Given the description of an element on the screen output the (x, y) to click on. 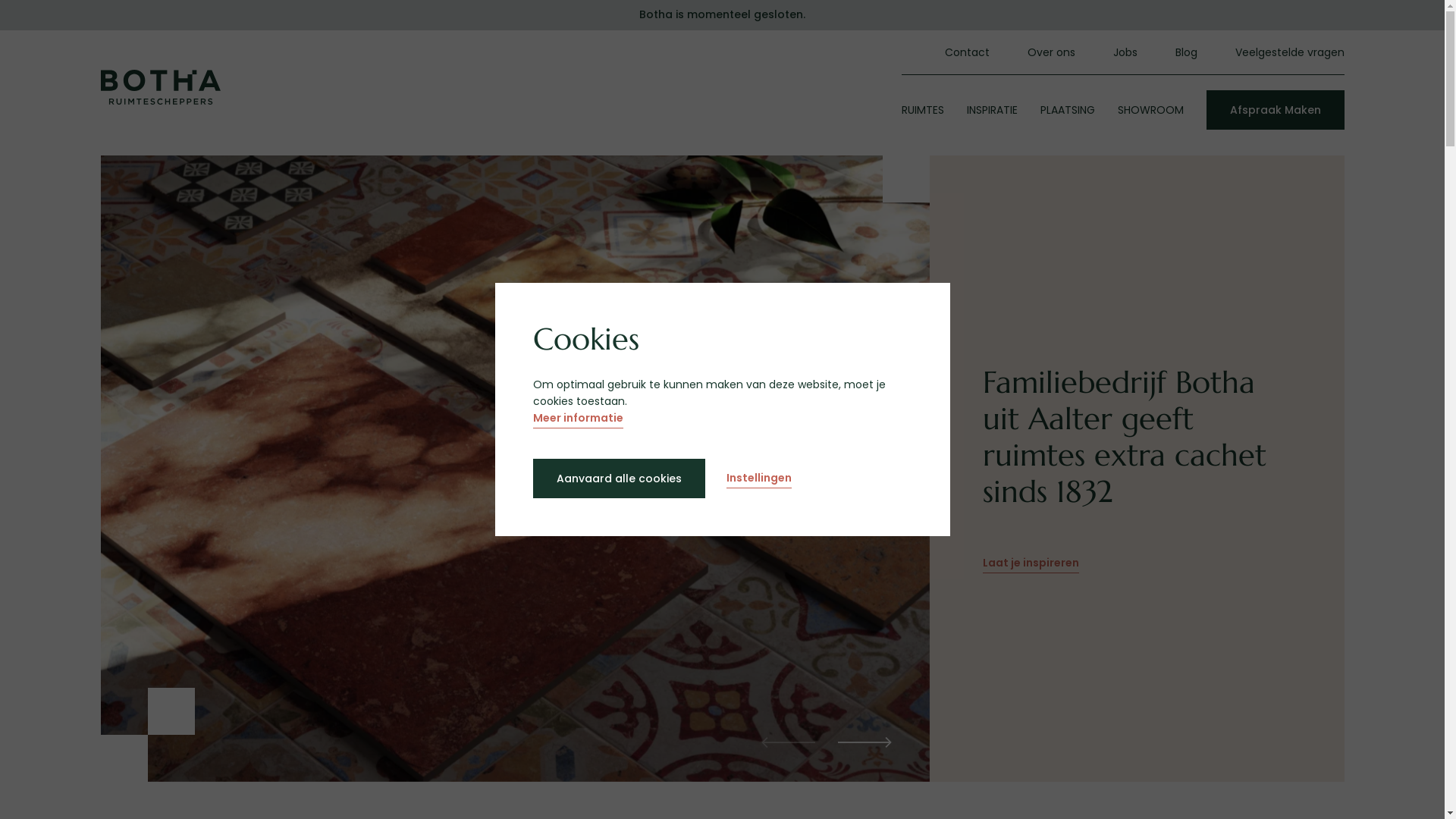
RUIMTES Element type: text (921, 109)
Over ons Element type: text (1050, 52)
Aanvaard alle cookies Element type: text (618, 478)
SHOWROOM Element type: text (1150, 109)
Instellingen Element type: text (758, 479)
Afspraak Maken Element type: text (1274, 109)
Jobs Element type: text (1125, 52)
Blog Element type: text (1186, 52)
Meer informatie Element type: text (577, 419)
Veelgestelde vragen Element type: text (1288, 52)
Contact Element type: text (966, 52)
Laat je inspireren Element type: text (1030, 564)
PLAATSING Element type: text (1067, 109)
INSPIRATIE Element type: text (991, 109)
